Given the description of an element on the screen output the (x, y) to click on. 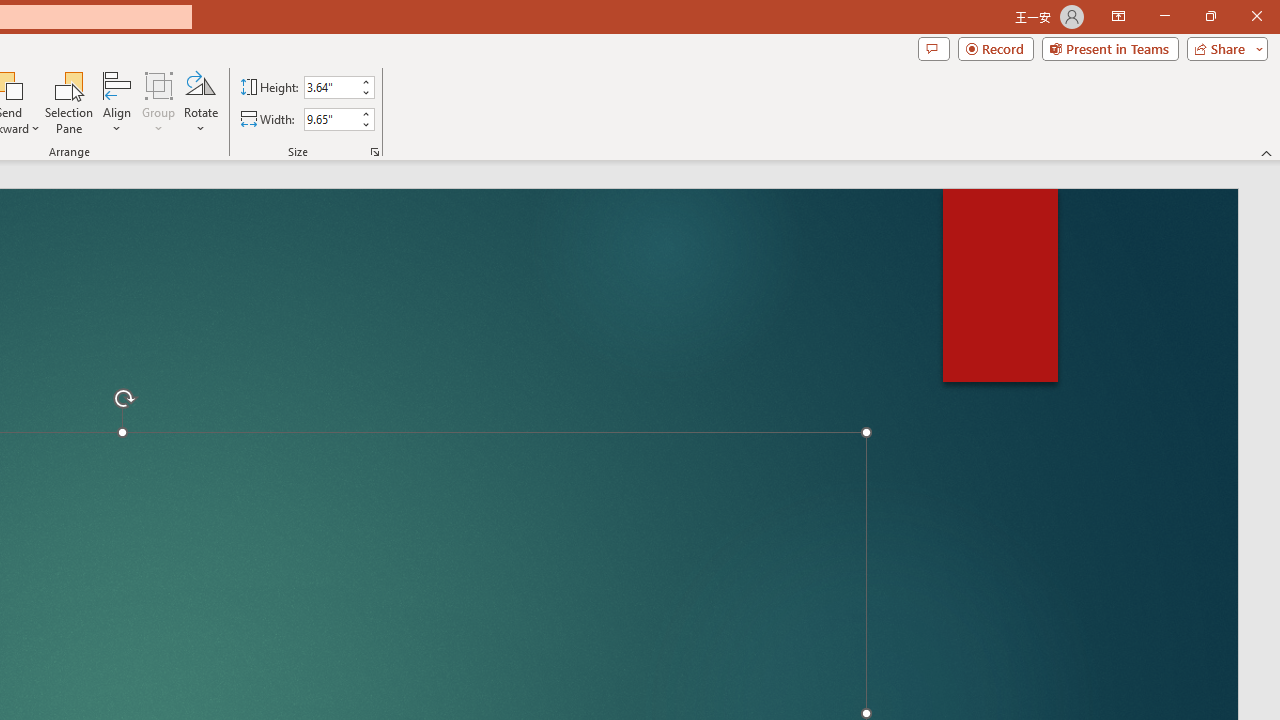
Less (365, 124)
